Given the description of an element on the screen output the (x, y) to click on. 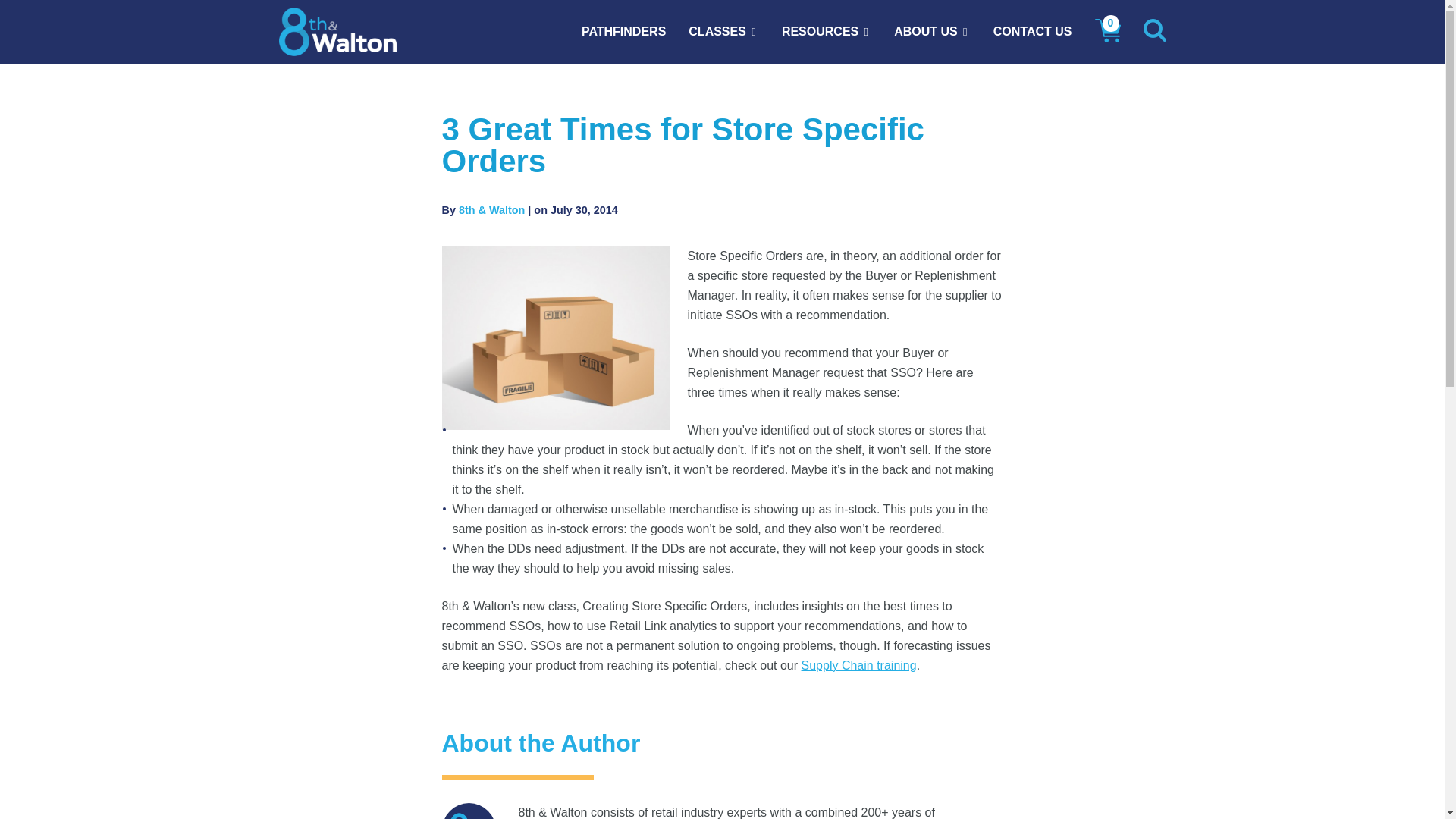
CLASSES (716, 31)
PATHFINDERS (622, 31)
CONTACT US (1031, 31)
ABOUT US (925, 31)
RESOURCES (820, 31)
